Given the description of an element on the screen output the (x, y) to click on. 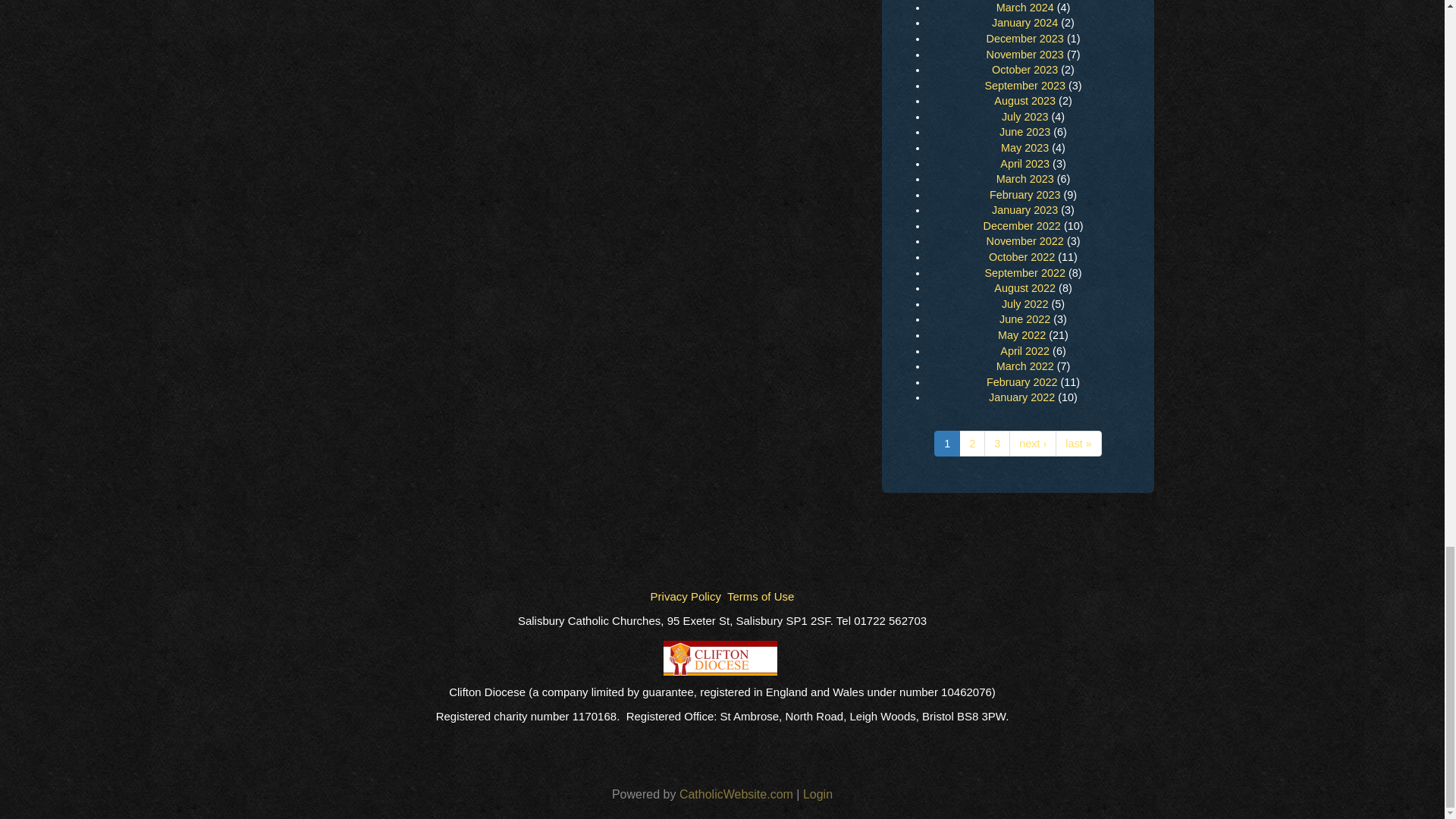
Go to last page (1077, 443)
Go to next page (1033, 443)
Go to page 3 (997, 443)
Go to page 2 (972, 443)
